Given the description of an element on the screen output the (x, y) to click on. 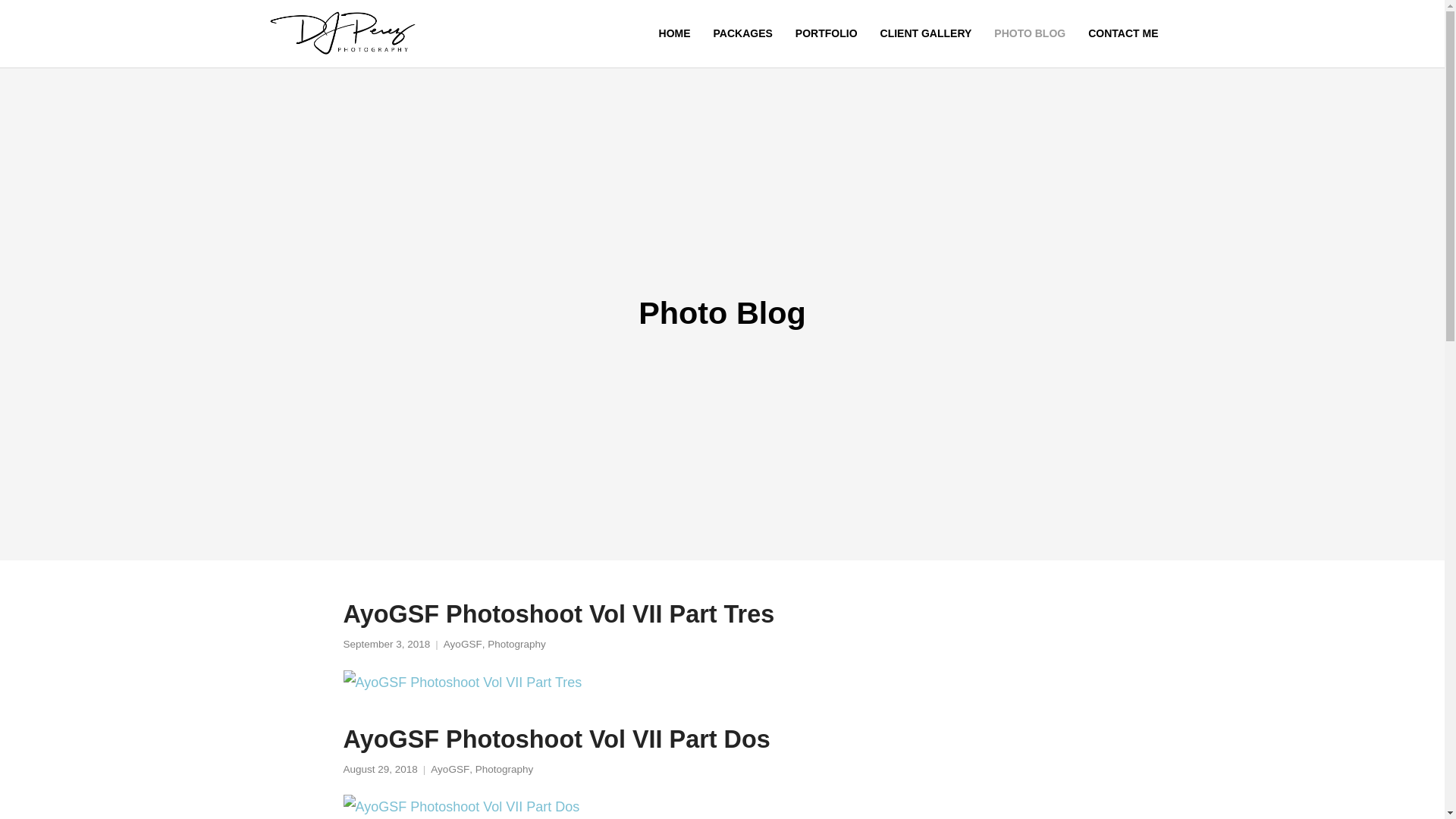
View all posts in Photography (505, 769)
Photography (516, 644)
View all posts in Photography (516, 644)
CONTACT ME (1123, 33)
View all posts in AyoGSF (449, 769)
AyoGSF (449, 769)
CLIENT GALLERY (926, 33)
PHOTO BLOG (1029, 33)
AyoGSF Photoshoot Vol VII Part Tres (461, 682)
Photography (505, 769)
